Given the description of an element on the screen output the (x, y) to click on. 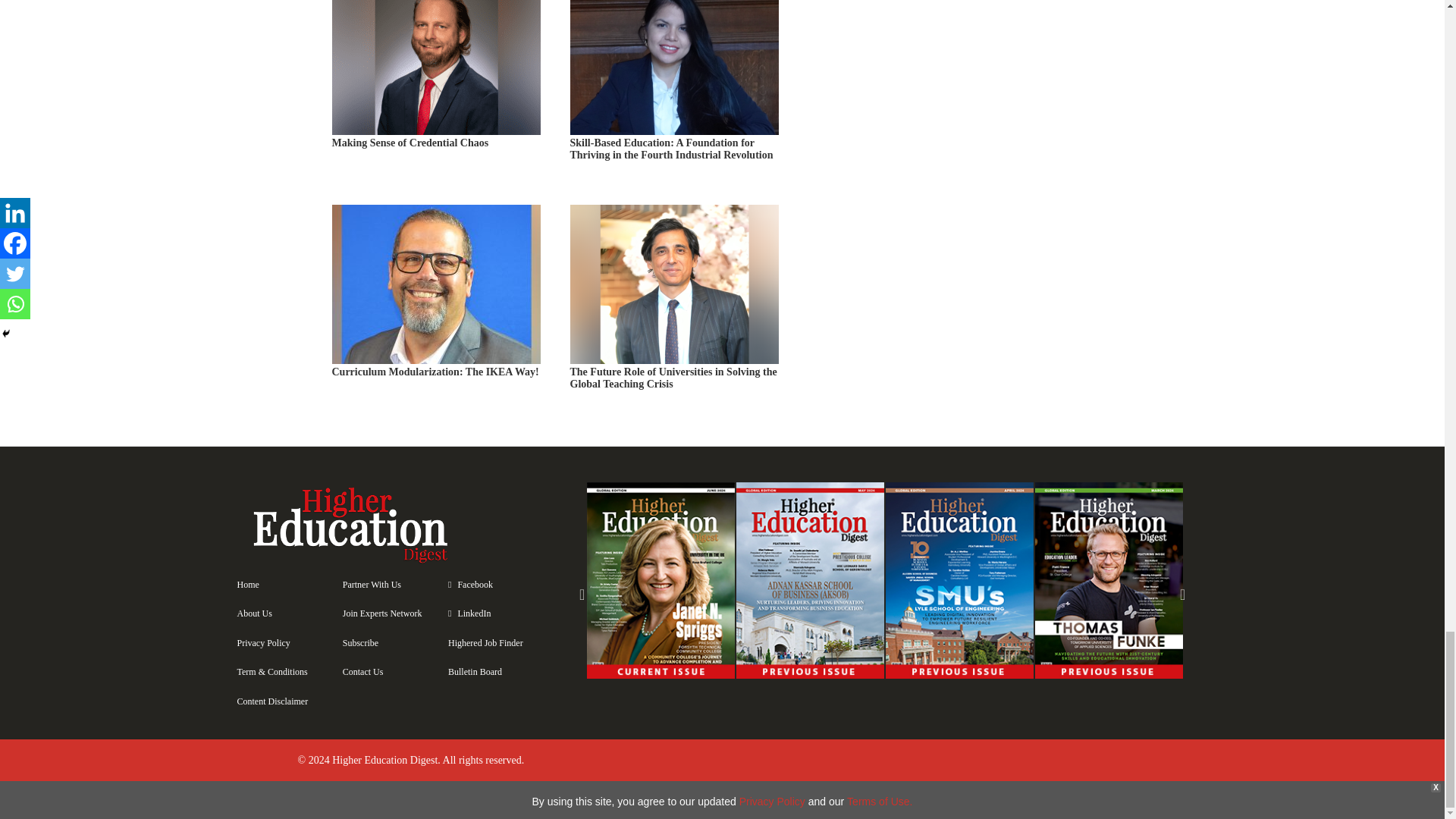
Curriculum Modularization: The IKEA Way! (436, 312)
Making Sense of Credential Chaos (436, 98)
